Given the description of an element on the screen output the (x, y) to click on. 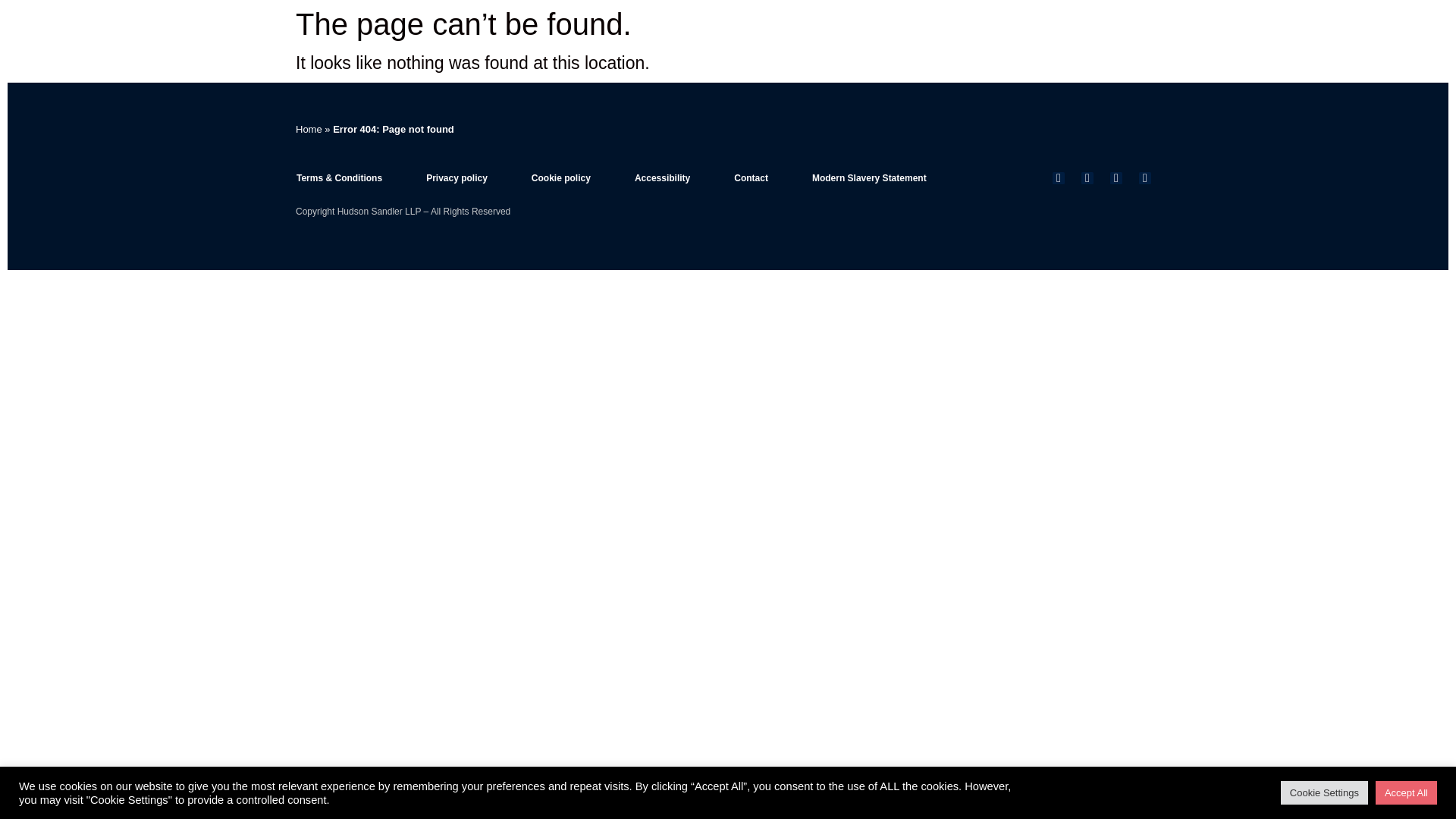
Modern Slavery Statement (868, 177)
Cookie policy (560, 177)
Accessibility (662, 177)
Contact (750, 177)
Home (308, 129)
Privacy policy (456, 177)
